Given the description of an element on the screen output the (x, y) to click on. 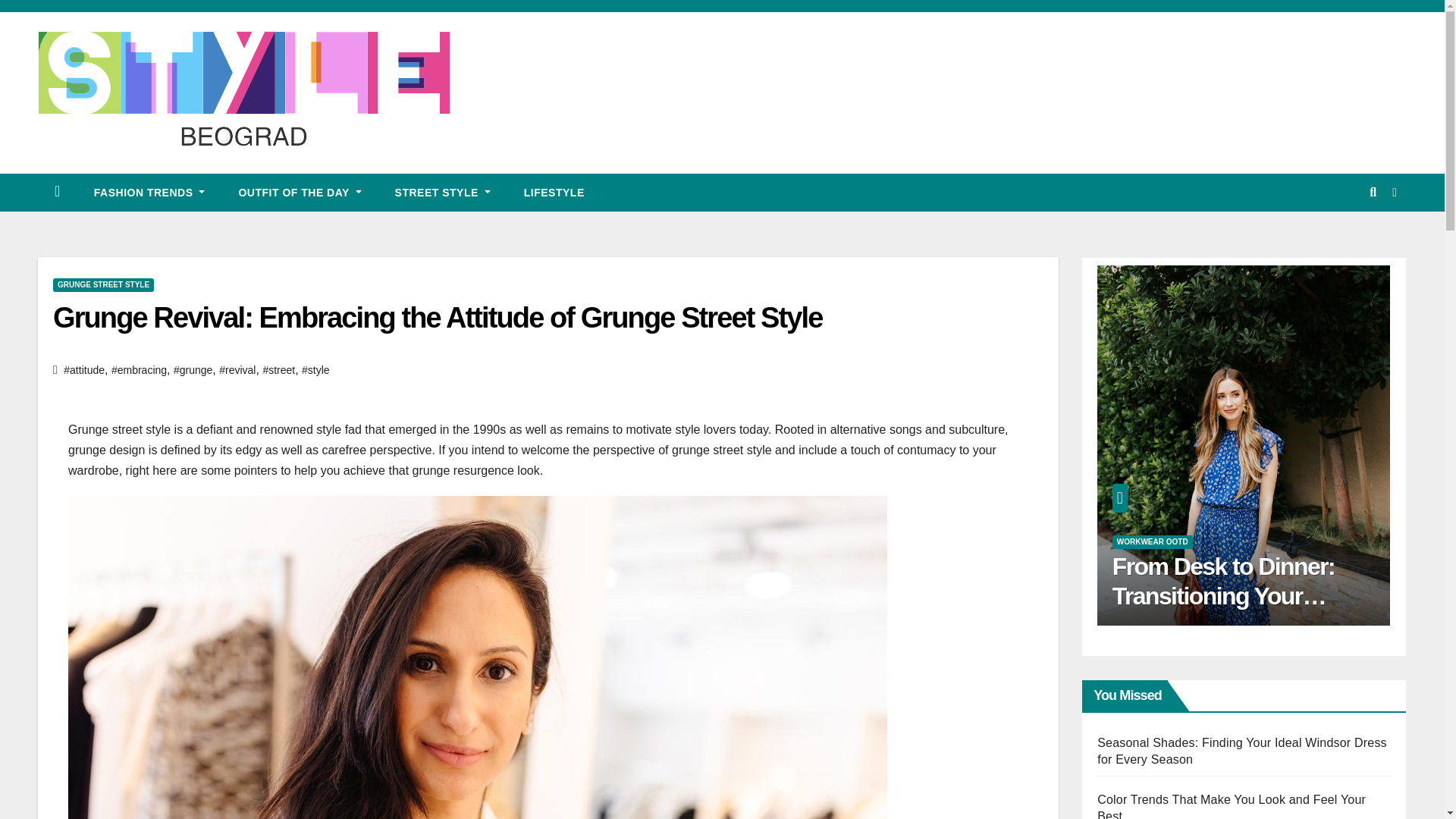
STREET STYLE (442, 192)
GRUNGE STREET STYLE (103, 284)
Fashion Trends (149, 192)
LIFESTYLE (553, 192)
OUTFIT OF THE DAY (299, 192)
FASHION TRENDS (149, 192)
Outfit of the Day (299, 192)
Street Style (442, 192)
